Given the description of an element on the screen output the (x, y) to click on. 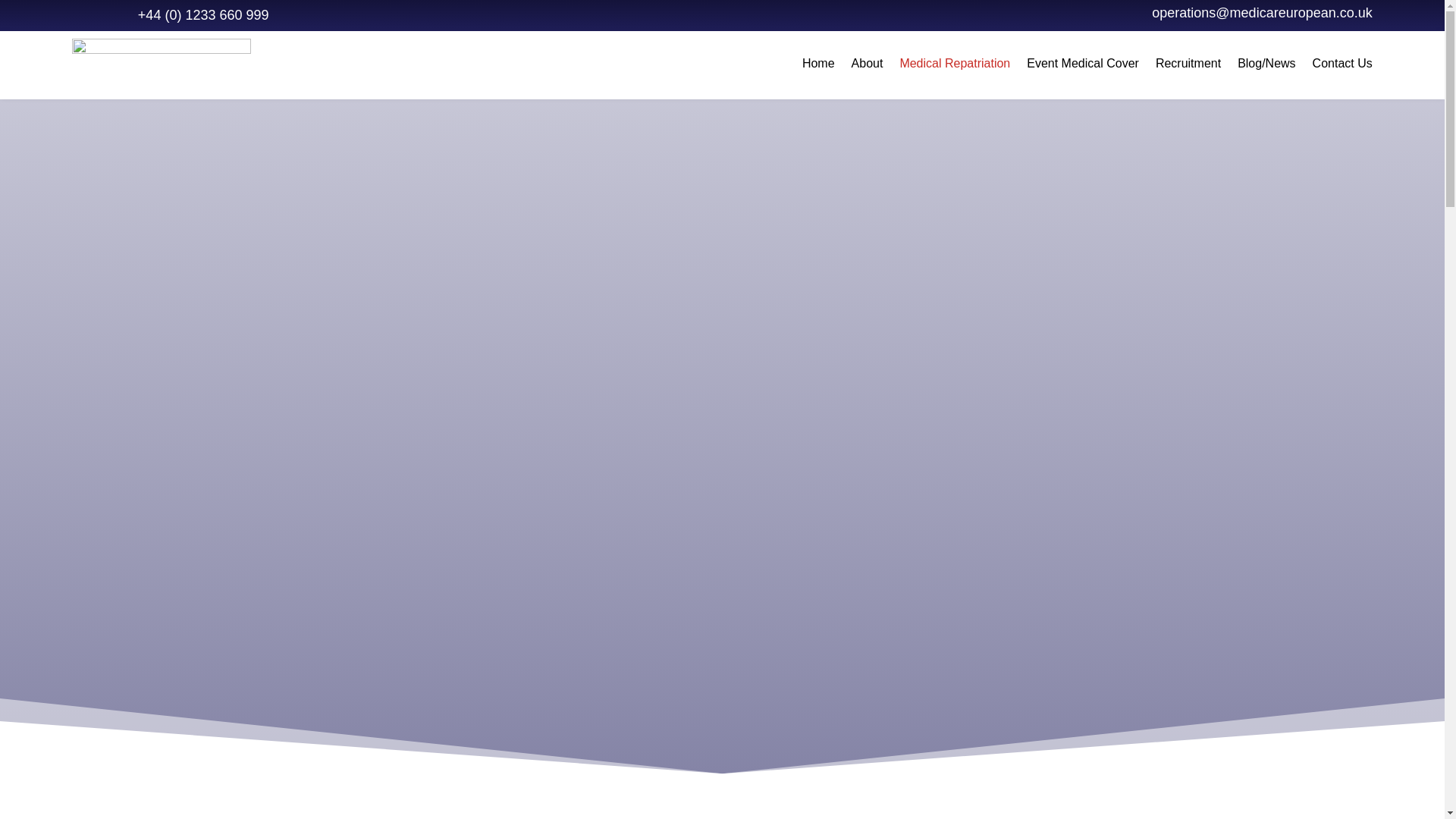
logo (160, 64)
About (867, 65)
Medical Repatriation (954, 65)
Home (818, 65)
Recruitment (1188, 65)
Contact Us (1343, 65)
Event Medical Cover (1082, 65)
